Given the description of an element on the screen output the (x, y) to click on. 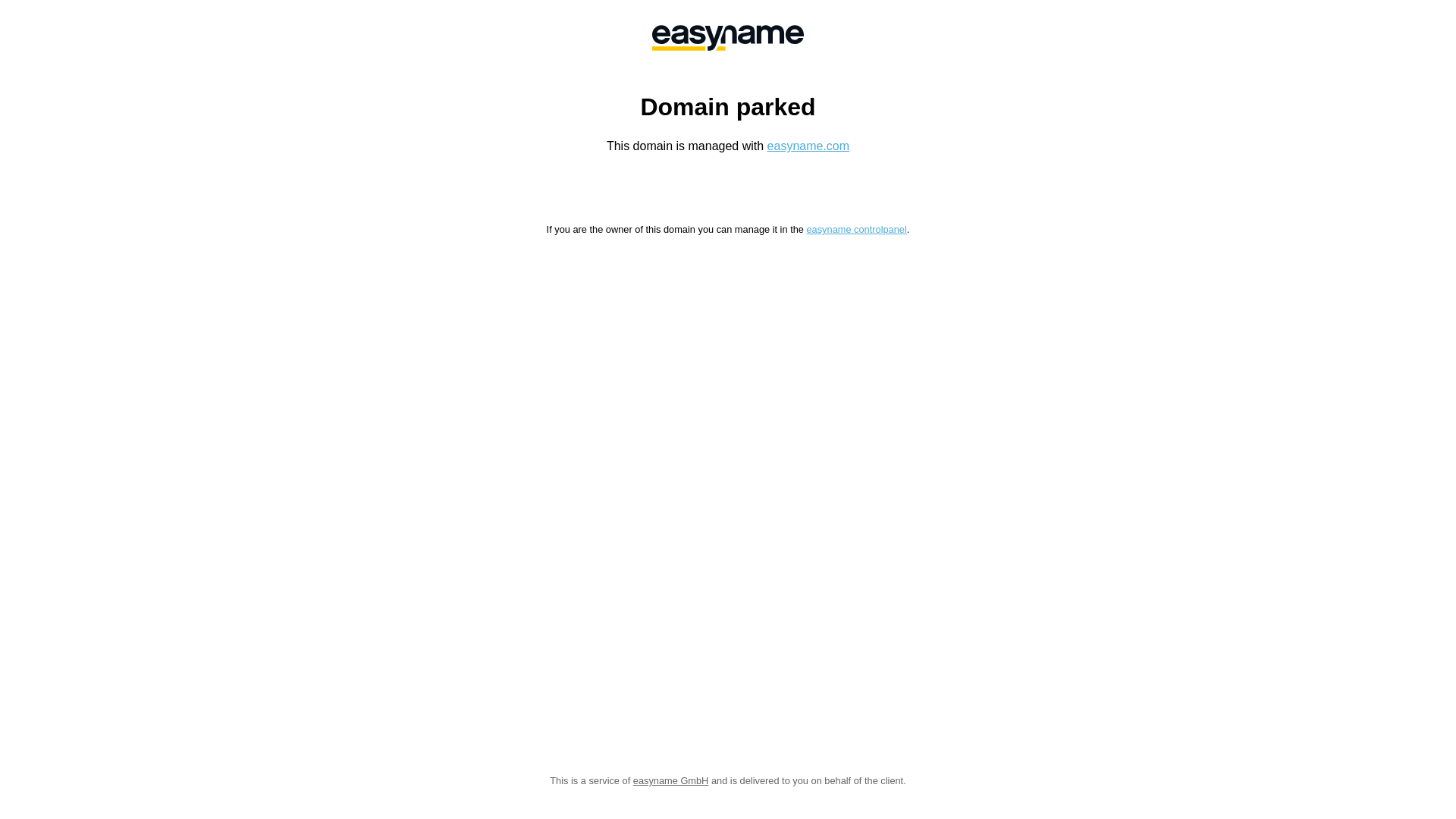
easyname controlpanel Element type: text (856, 229)
easyname GmbH Element type: hover (727, 37)
easyname GmbH Element type: text (671, 780)
easyname.com Element type: text (808, 145)
